Given the description of an element on the screen output the (x, y) to click on. 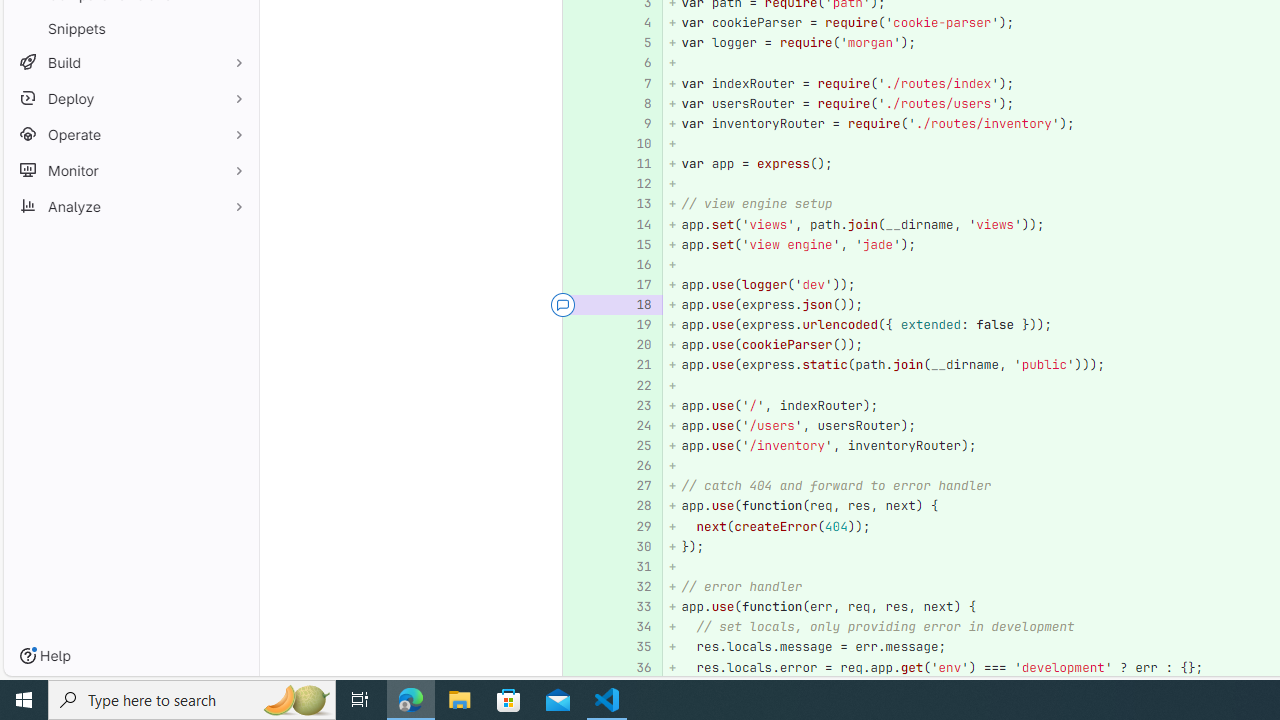
32 (637, 587)
23 (633, 405)
Deploy (130, 98)
25 (633, 446)
9 (633, 123)
10 (633, 143)
22 (633, 385)
Operate (130, 134)
11 (637, 164)
34 (633, 627)
6 (633, 63)
Help (45, 655)
24 (633, 425)
35 (637, 647)
28 (633, 506)
